Given the description of an element on the screen output the (x, y) to click on. 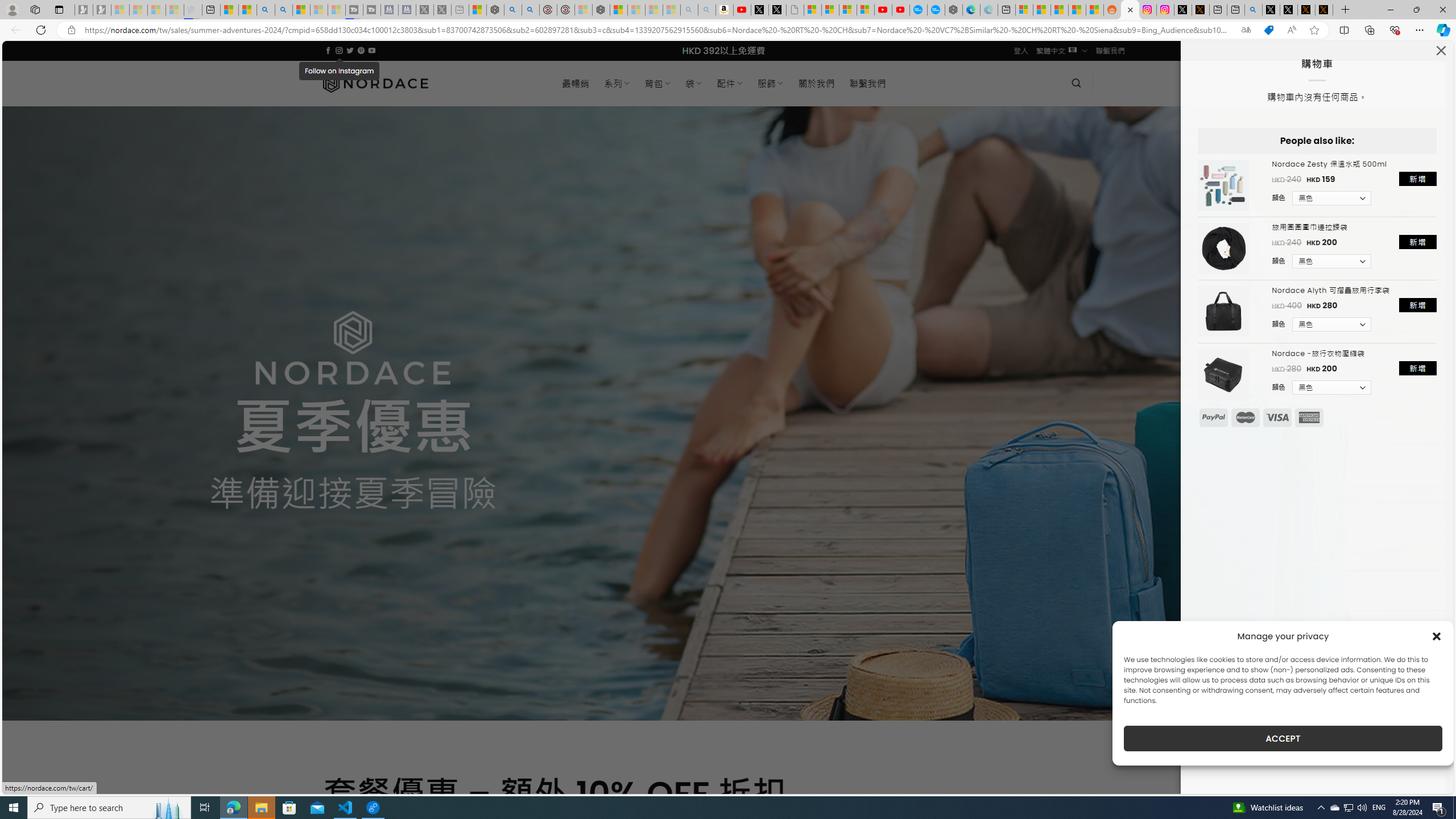
GitHub (@github) / X (1289, 9)
poe ++ standard - Search (530, 9)
